Given the description of an element on the screen output the (x, y) to click on. 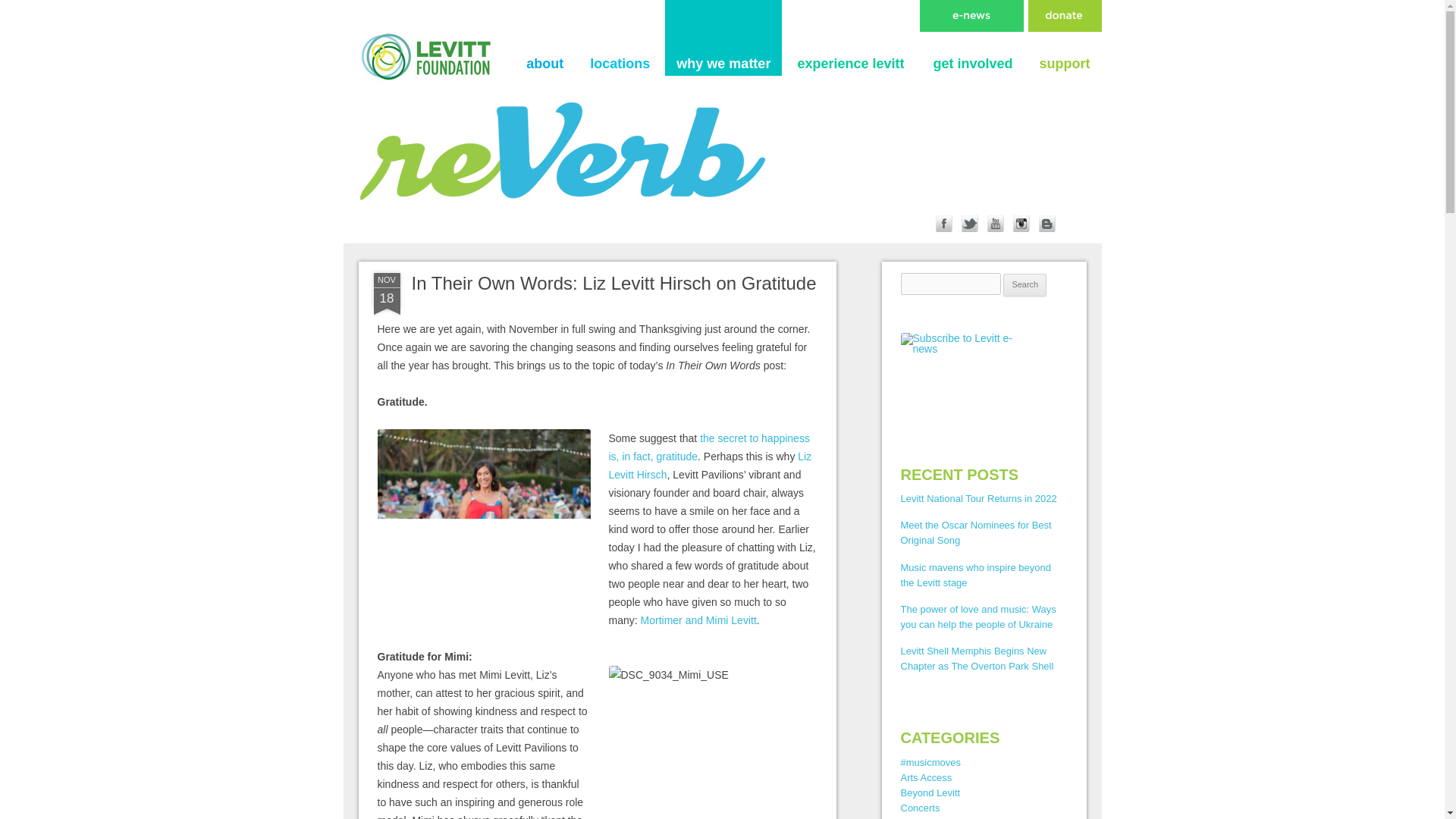
Liz Levitt Hirsch (709, 465)
Music mavens who inspire beyond the Levitt stage (976, 574)
Mortimer and Mimi Levitt Foundation (698, 620)
get involved (972, 65)
Meet the Oscar Nominees for Best Original Song (976, 532)
Skip to content (841, 5)
Ted Talk - Gratitude (708, 447)
support (1064, 65)
reVerb (388, 18)
